Given the description of an element on the screen output the (x, y) to click on. 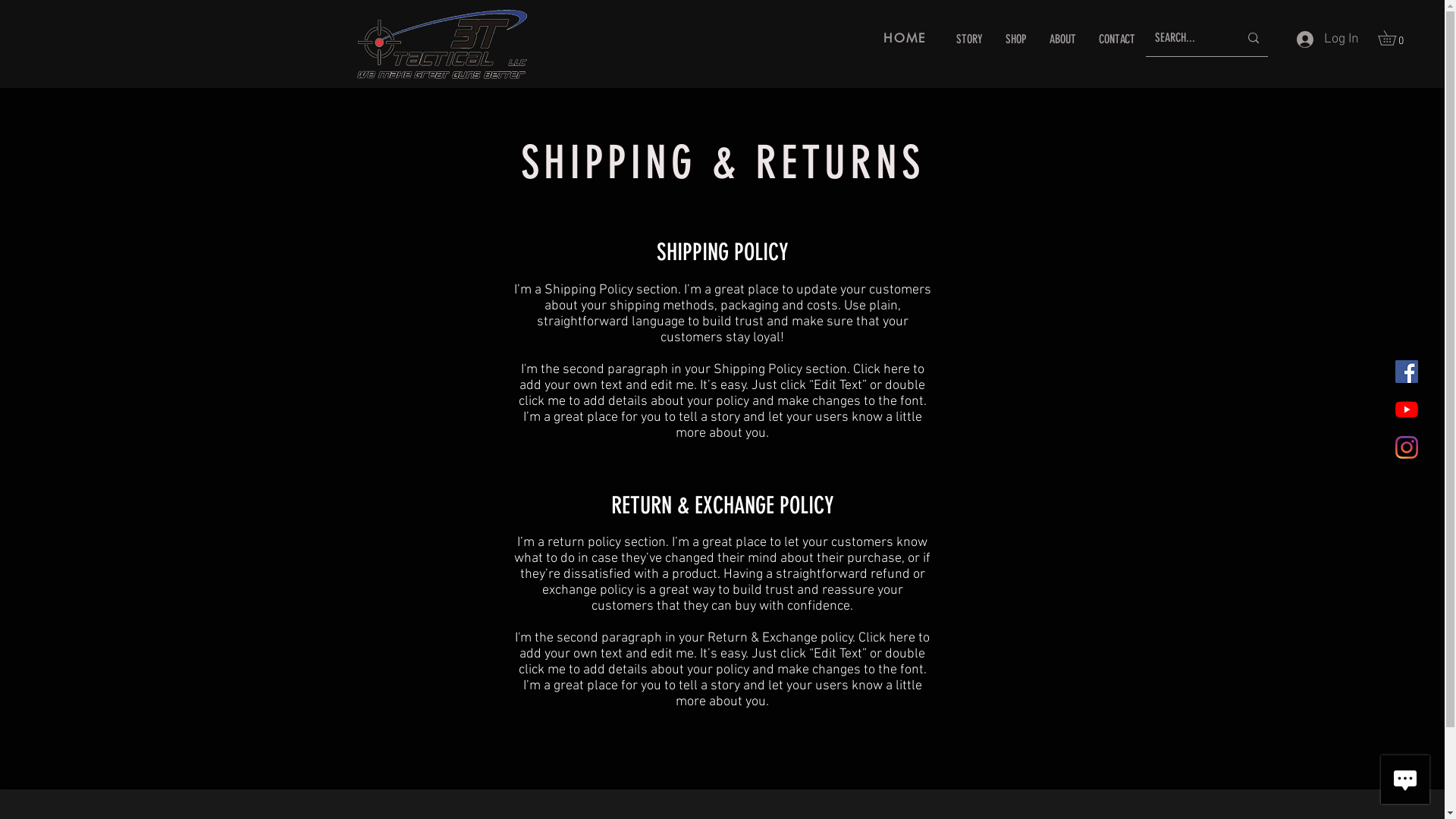
CONTACT Element type: text (1116, 38)
Log In Element type: text (1327, 39)
Logo_edited.png Element type: hover (441, 43)
HOME Element type: text (905, 37)
ABOUT Element type: text (1062, 38)
STORY Element type: text (969, 38)
SHOP Element type: text (1016, 38)
0 Element type: text (1393, 37)
